Given the description of an element on the screen output the (x, y) to click on. 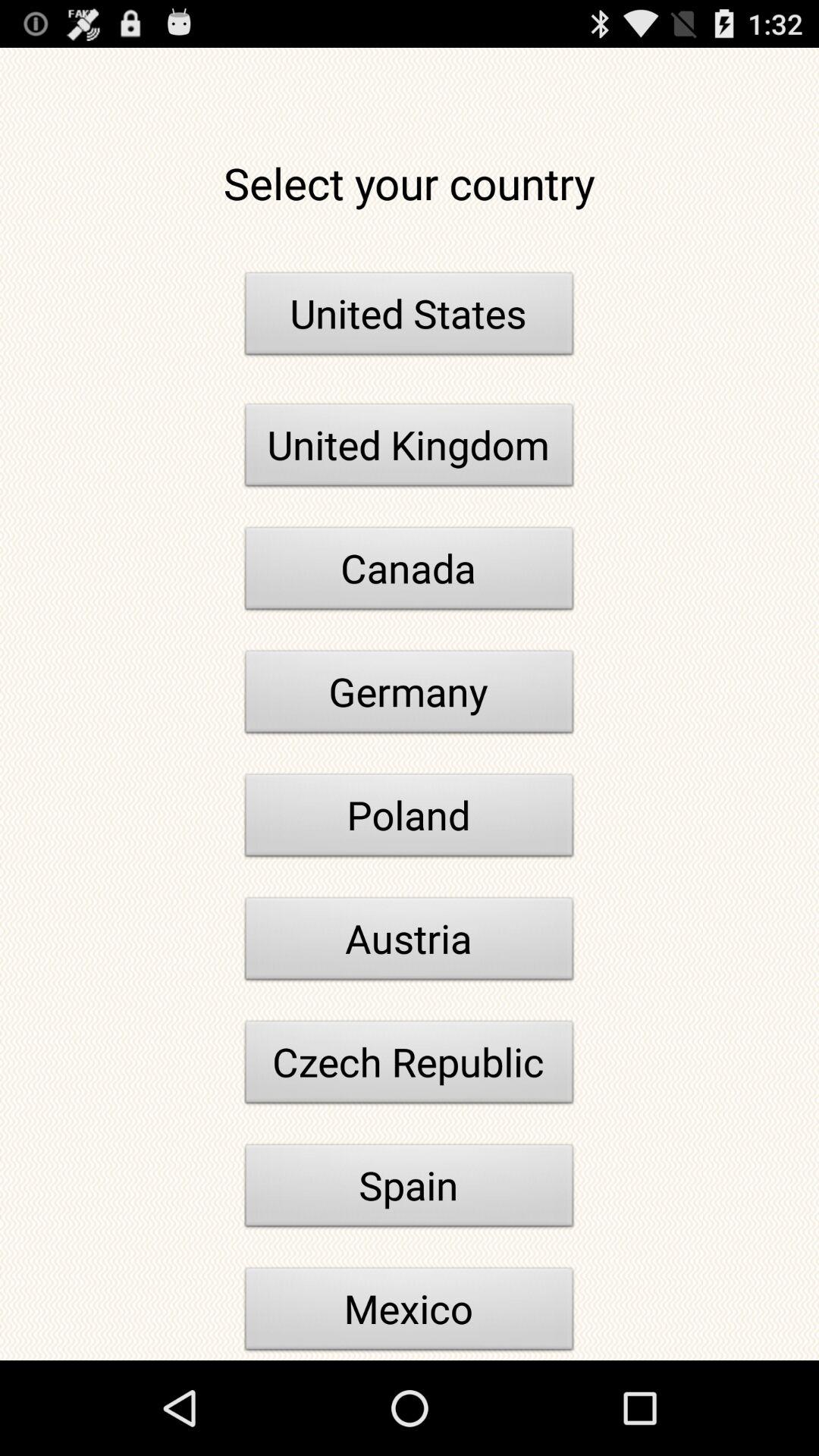
flip to czech republic item (409, 1066)
